Given the description of an element on the screen output the (x, y) to click on. 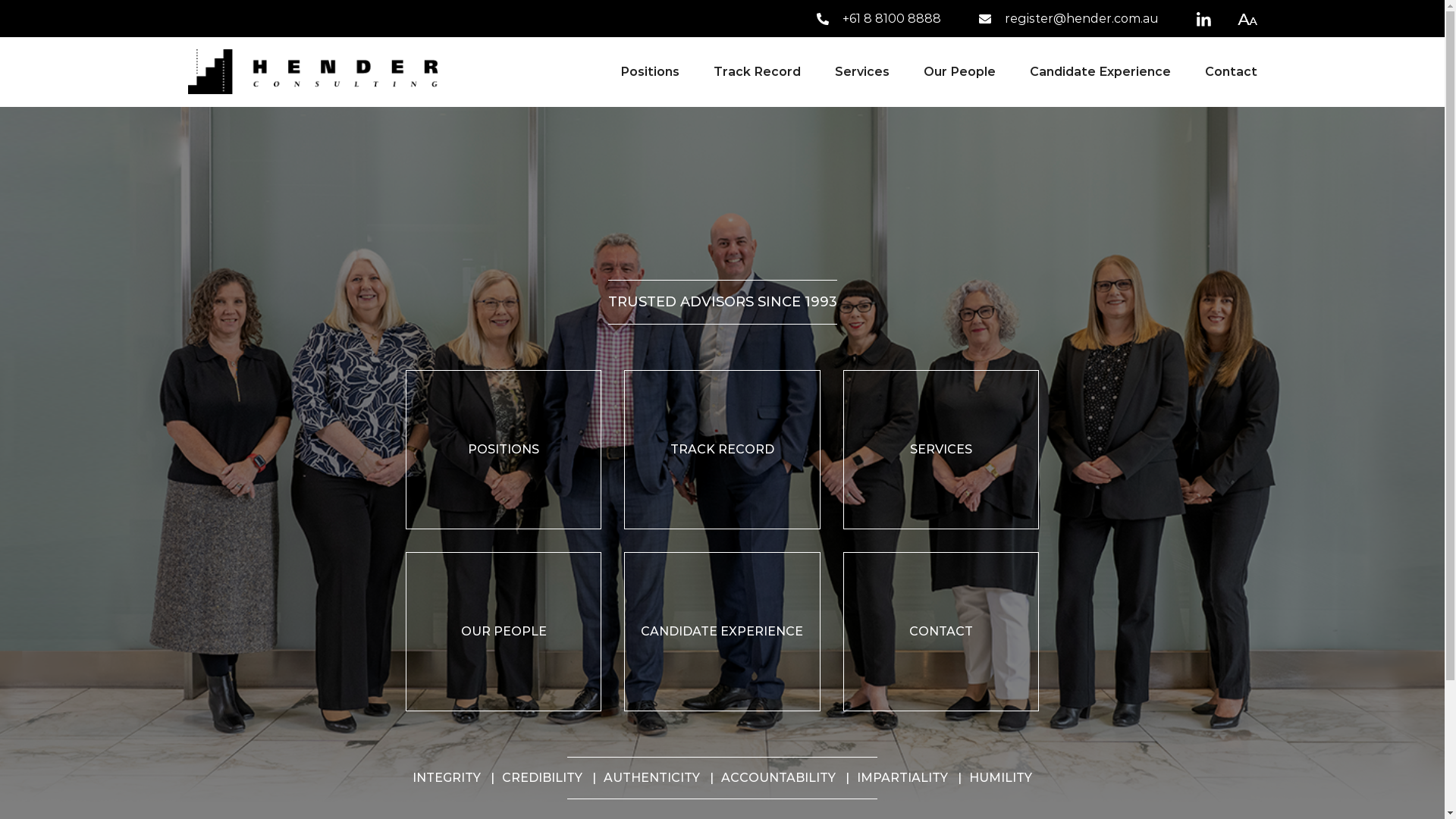
CANDIDATE EXPERIENCE Element type: text (721, 631)
TRACK RECORD Element type: text (721, 449)
Positions Element type: text (649, 71)
register@hender.com.au Element type: text (1067, 18)
Track Record Element type: text (756, 71)
+61 8 8100 8888 Element type: text (877, 18)
Hender Consulting Element type: hover (313, 71)
Contact Element type: text (1222, 71)
OUR PEOPLE Element type: text (503, 631)
Candidate Experience Element type: text (1100, 71)
SERVICES Element type: text (940, 449)
Services Element type: text (861, 71)
CONTACT Element type: text (940, 631)
Our People Element type: text (959, 71)
POSITIONS Element type: text (503, 449)
